Given the description of an element on the screen output the (x, y) to click on. 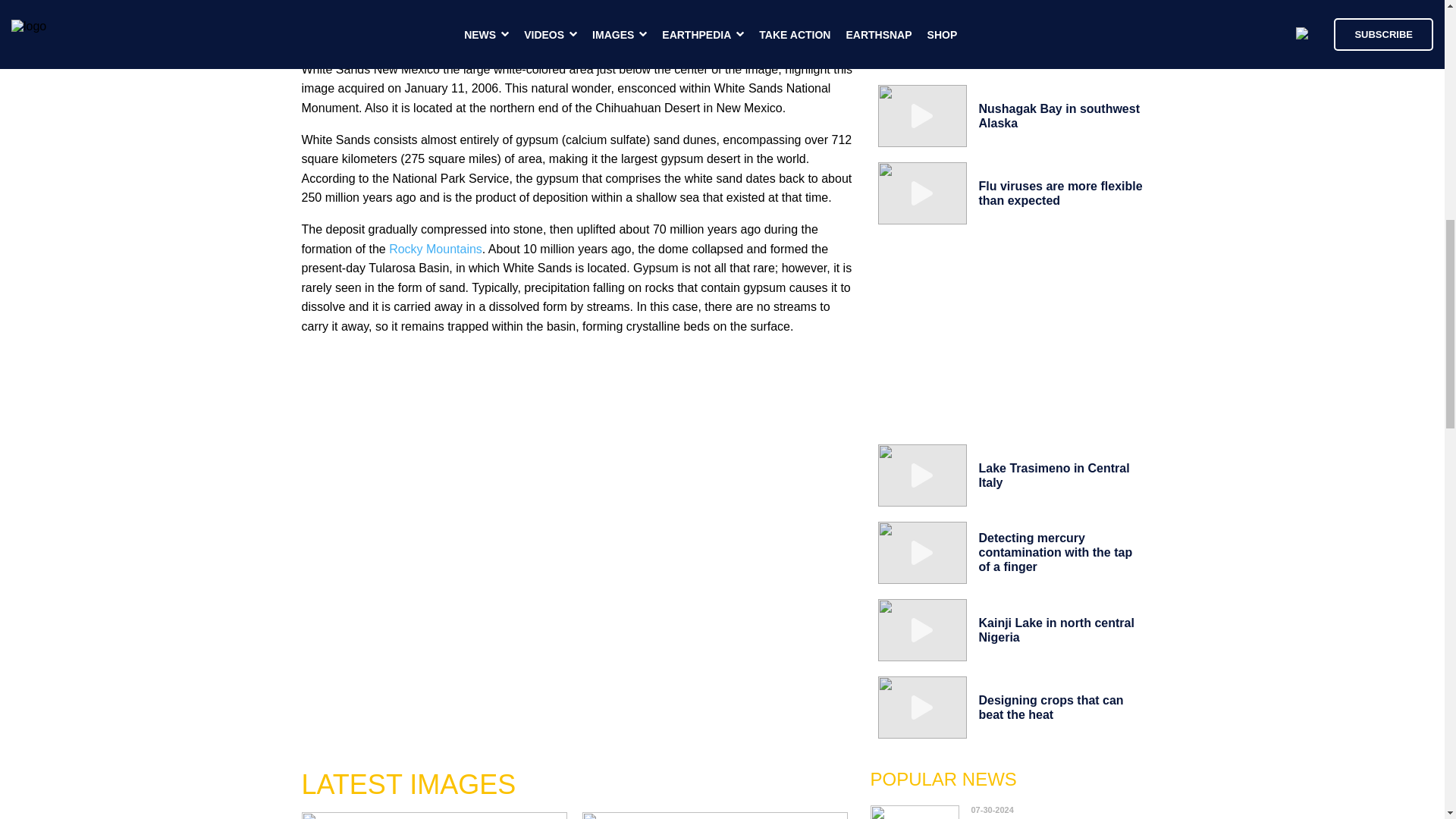
Lake Trasimeno in Central Italy (1053, 474)
Designing crops that can beat the heat (1050, 706)
Meal timing has a major influence on our health (1039, 815)
Detecting mercury contamination with the tap of a finger (1055, 552)
Kainji Lake in north central Nigeria (1056, 628)
Nushagak Bay in southwest Alaska (1059, 114)
Rocky Mountains (434, 248)
Flu viruses are more flexible than expected (1059, 192)
